Given the description of an element on the screen output the (x, y) to click on. 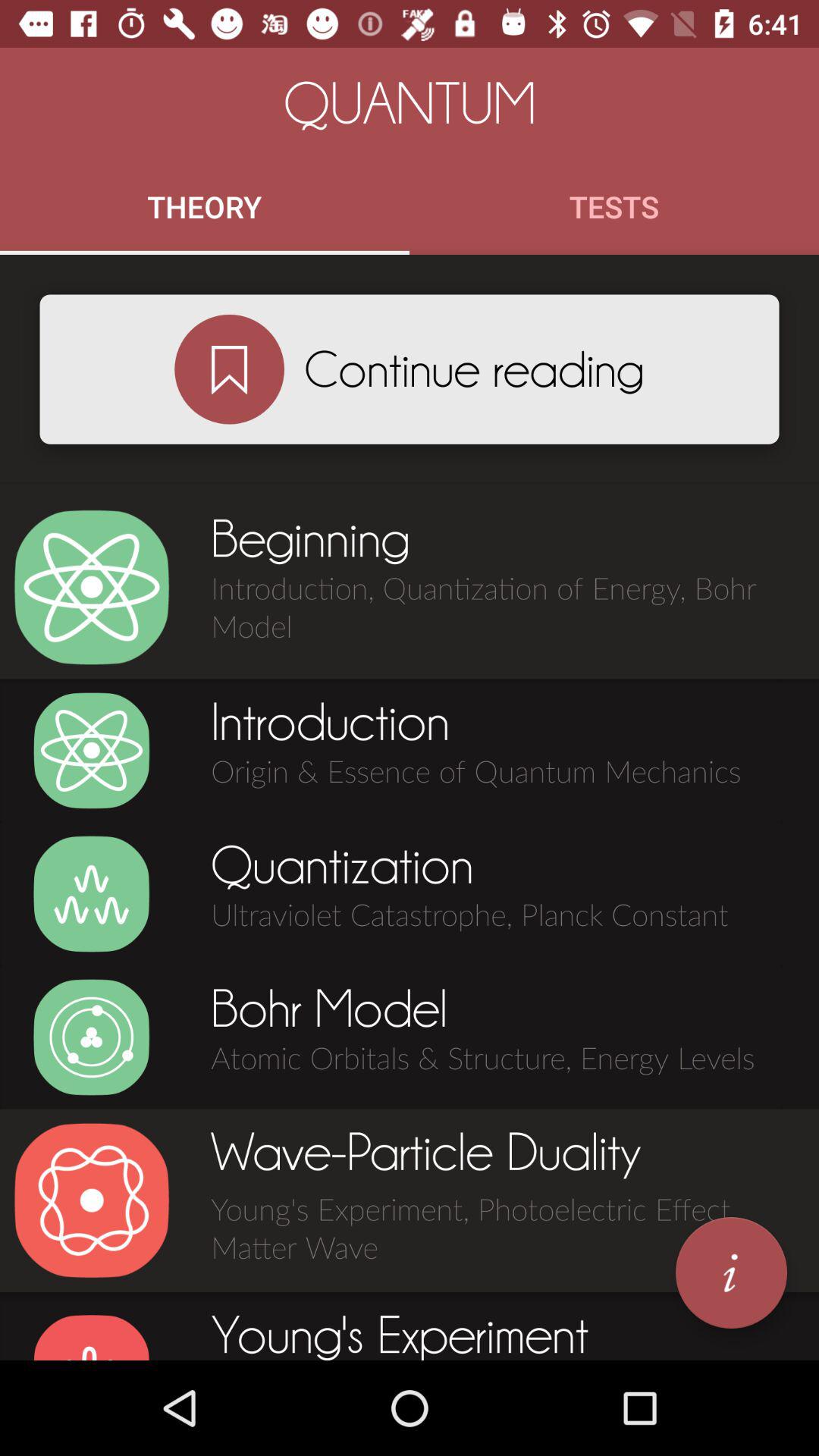
this button takes me to an information page (731, 1272)
